Given the description of an element on the screen output the (x, y) to click on. 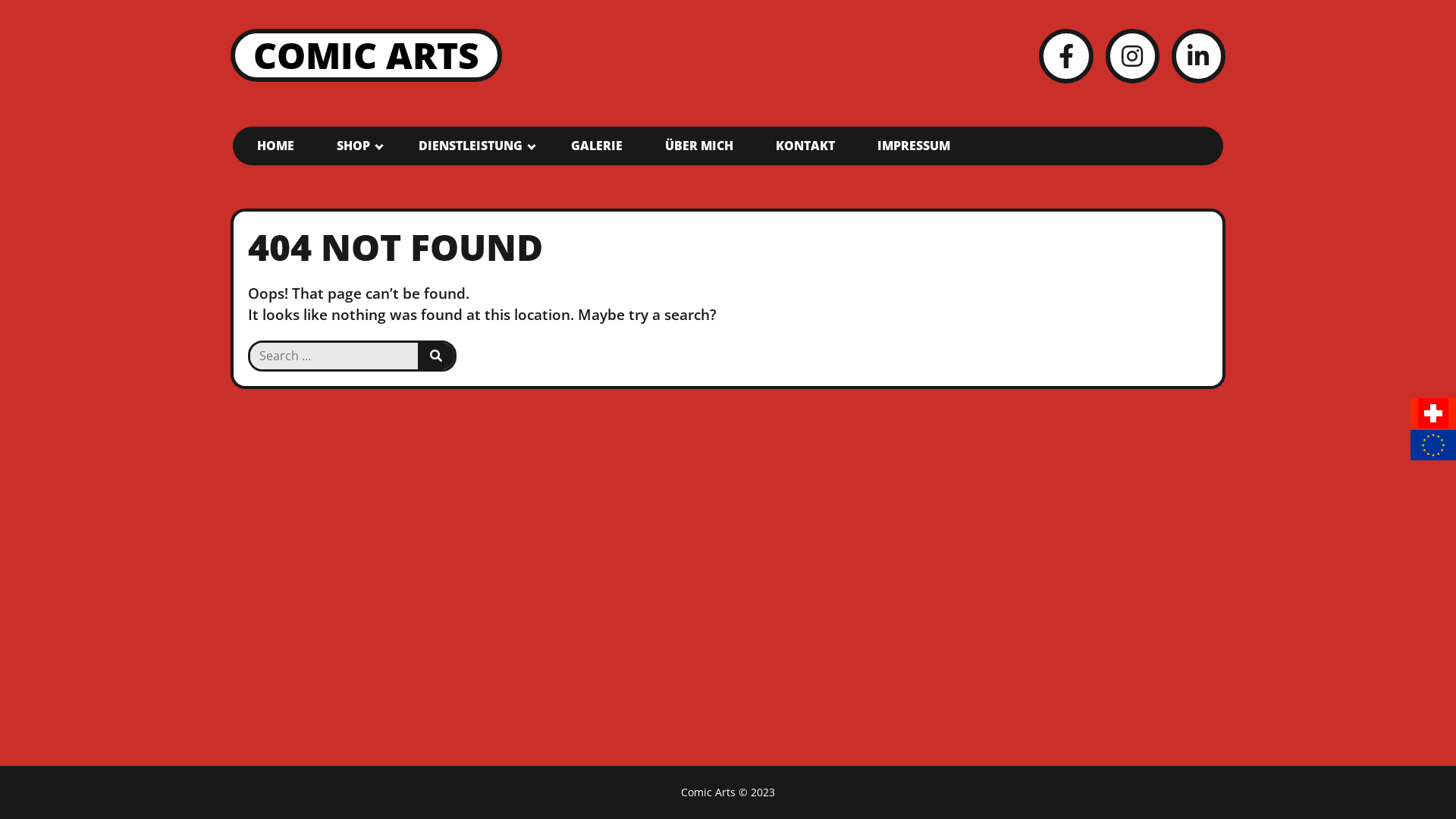
Instagram Element type: hover (1132, 55)
DIENSTLEISTUNG Element type: text (473, 145)
KONTAKT Element type: text (804, 145)
LinkedIn Element type: hover (1198, 55)
COMIC ARTS Element type: text (366, 54)
Search for: Element type: hover (333, 355)
IMPRESSUM Element type: text (913, 145)
HOME Element type: text (275, 145)
SHOP Element type: text (356, 145)
Facebook Element type: hover (1065, 55)
GALERIE Element type: text (596, 145)
SEARCH Element type: text (435, 355)
